Given the description of an element on the screen output the (x, y) to click on. 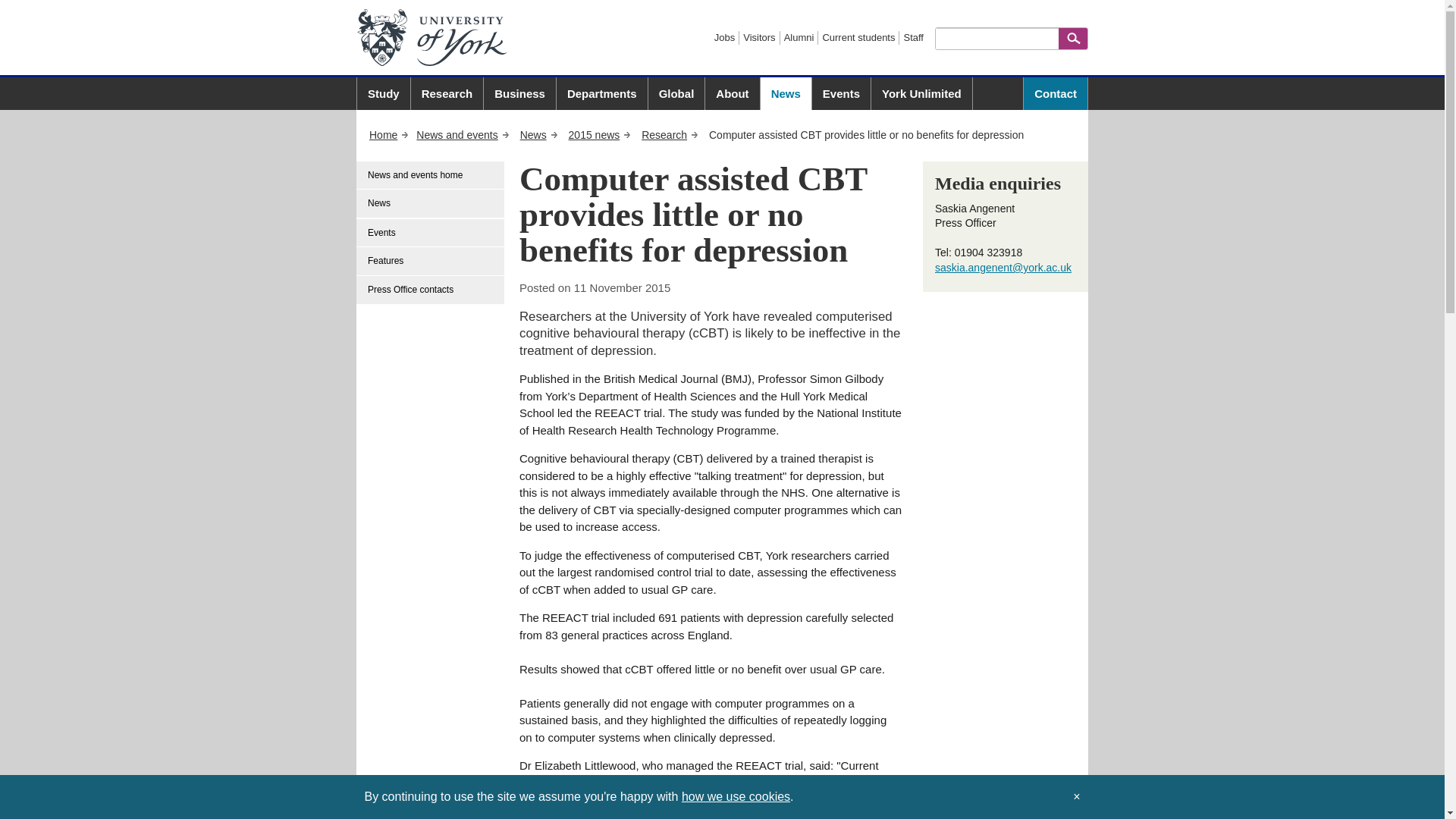
News (538, 134)
Search (1072, 41)
News and events (462, 134)
York Unlimited (921, 92)
Contact (1055, 92)
2015 news (600, 134)
Global (675, 92)
Search (1072, 41)
Features (430, 261)
Current students (858, 37)
Jobs (724, 37)
Research (446, 92)
Research (670, 134)
University homepage (389, 134)
Business (519, 92)
